Given the description of an element on the screen output the (x, y) to click on. 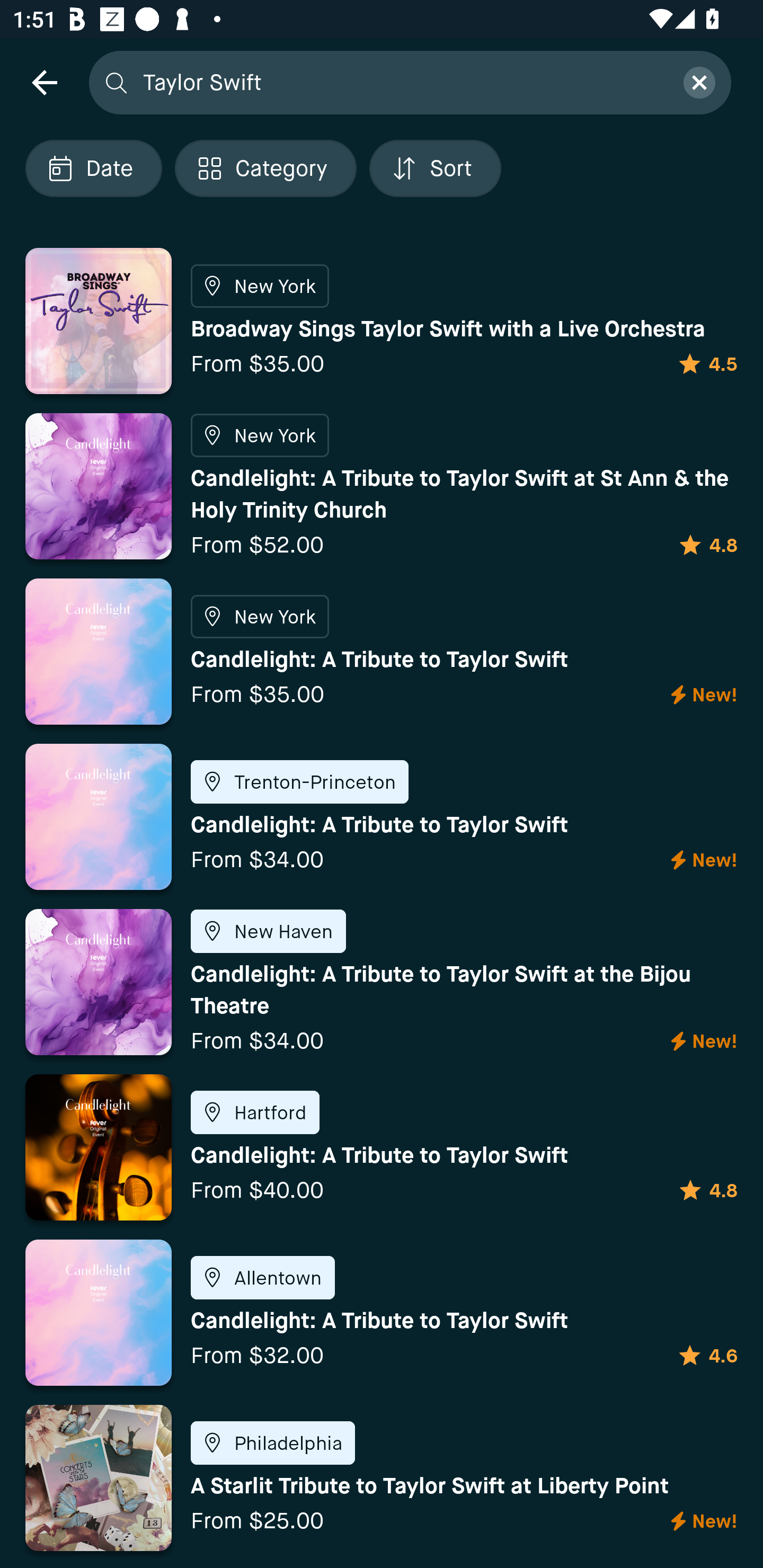
navigation icon (44, 81)
Taylor Swift (402, 81)
Localized description Date (93, 168)
Localized description Category (265, 168)
Localized description Sort (435, 168)
